Given the description of an element on the screen output the (x, y) to click on. 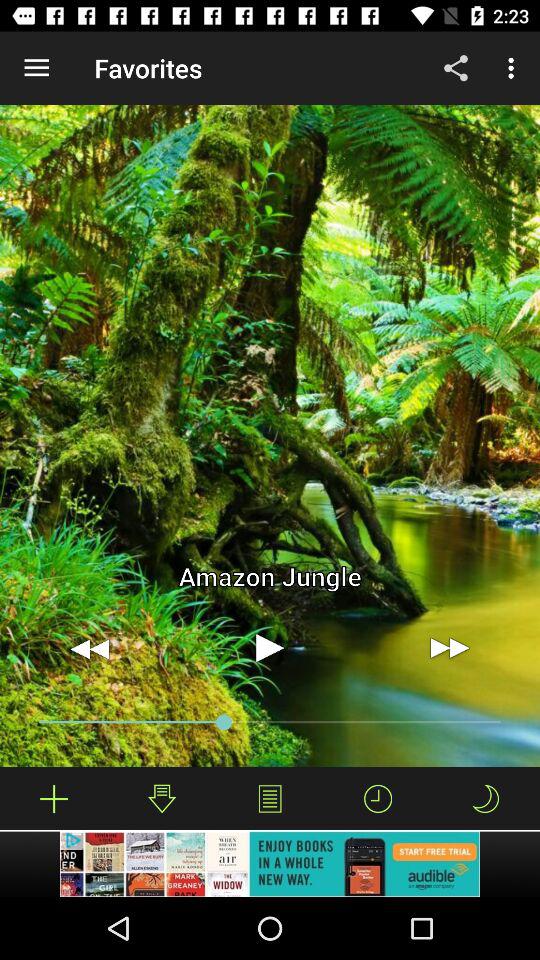
add new image (54, 798)
